Given the description of an element on the screen output the (x, y) to click on. 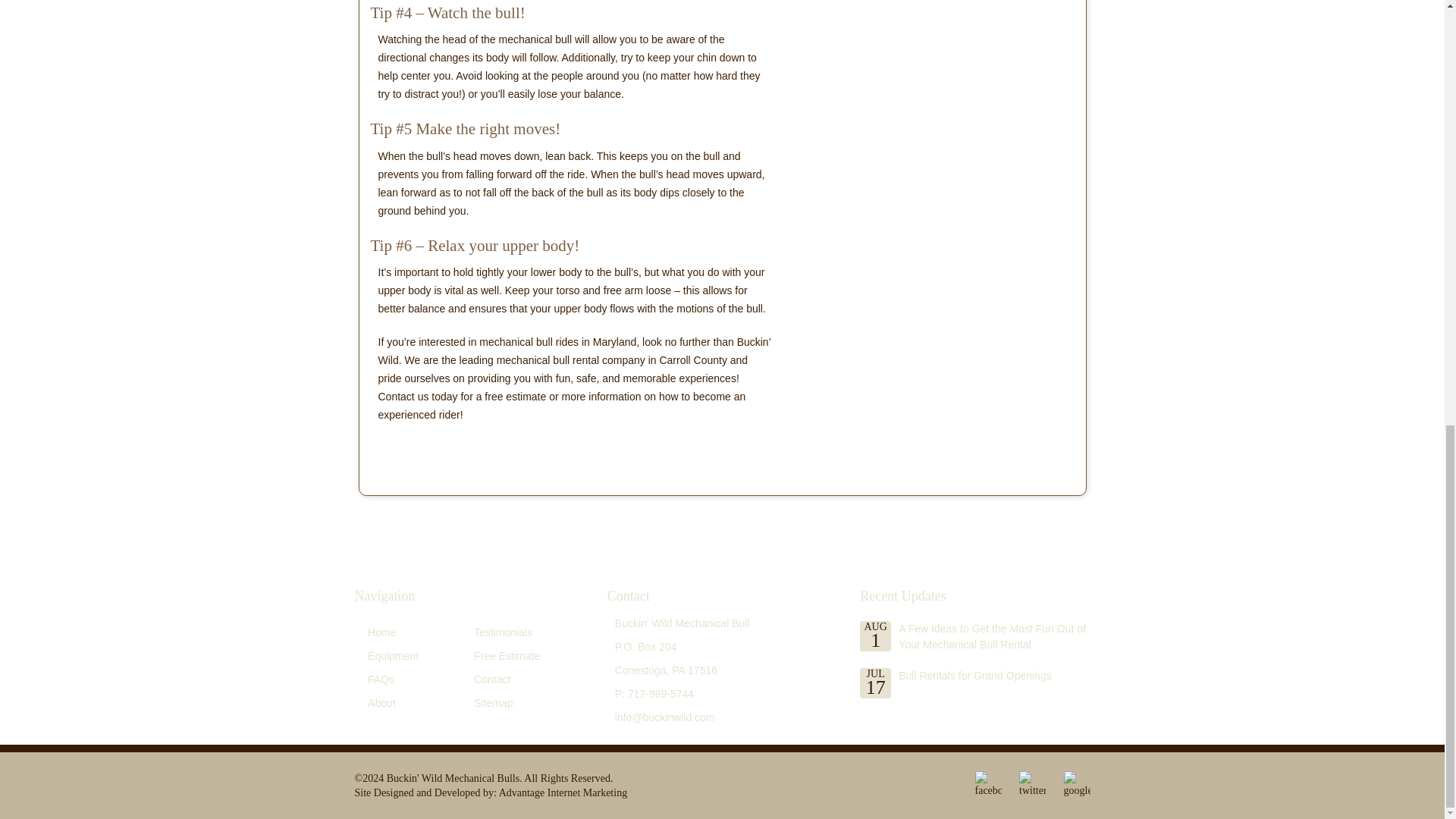
Share to Digg (463, 450)
Equipment (393, 655)
Share to Tumblr (572, 450)
Sitemap (493, 702)
Share to Twitter (409, 450)
Email this article (629, 450)
Bull Rentals for Grand Openings (974, 675)
Advantage Internet Marketing (563, 792)
Share to Reddit (491, 450)
Share to LinkedIn (518, 450)
Testimonials (503, 632)
FAQs (381, 679)
Contact (492, 679)
Share to StumbleUpon (545, 450)
Share to Pinterest (600, 450)
